Given the description of an element on the screen output the (x, y) to click on. 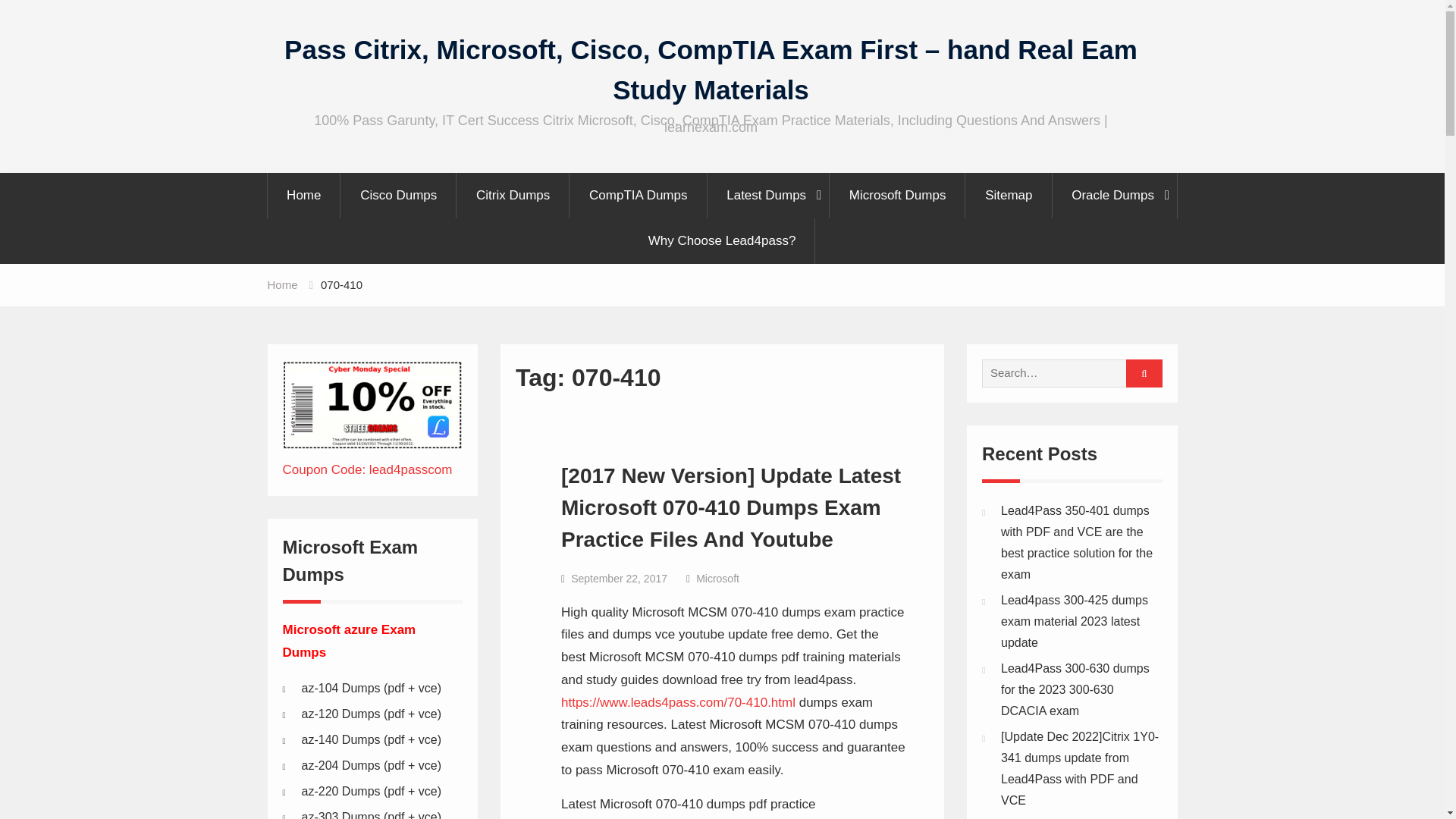
CompTIA Dumps (638, 195)
Citrix Dumps (513, 195)
Home (303, 195)
Search for: (1067, 373)
Latest Dumps (768, 195)
Cisco Dumps (398, 195)
